Given the description of an element on the screen output the (x, y) to click on. 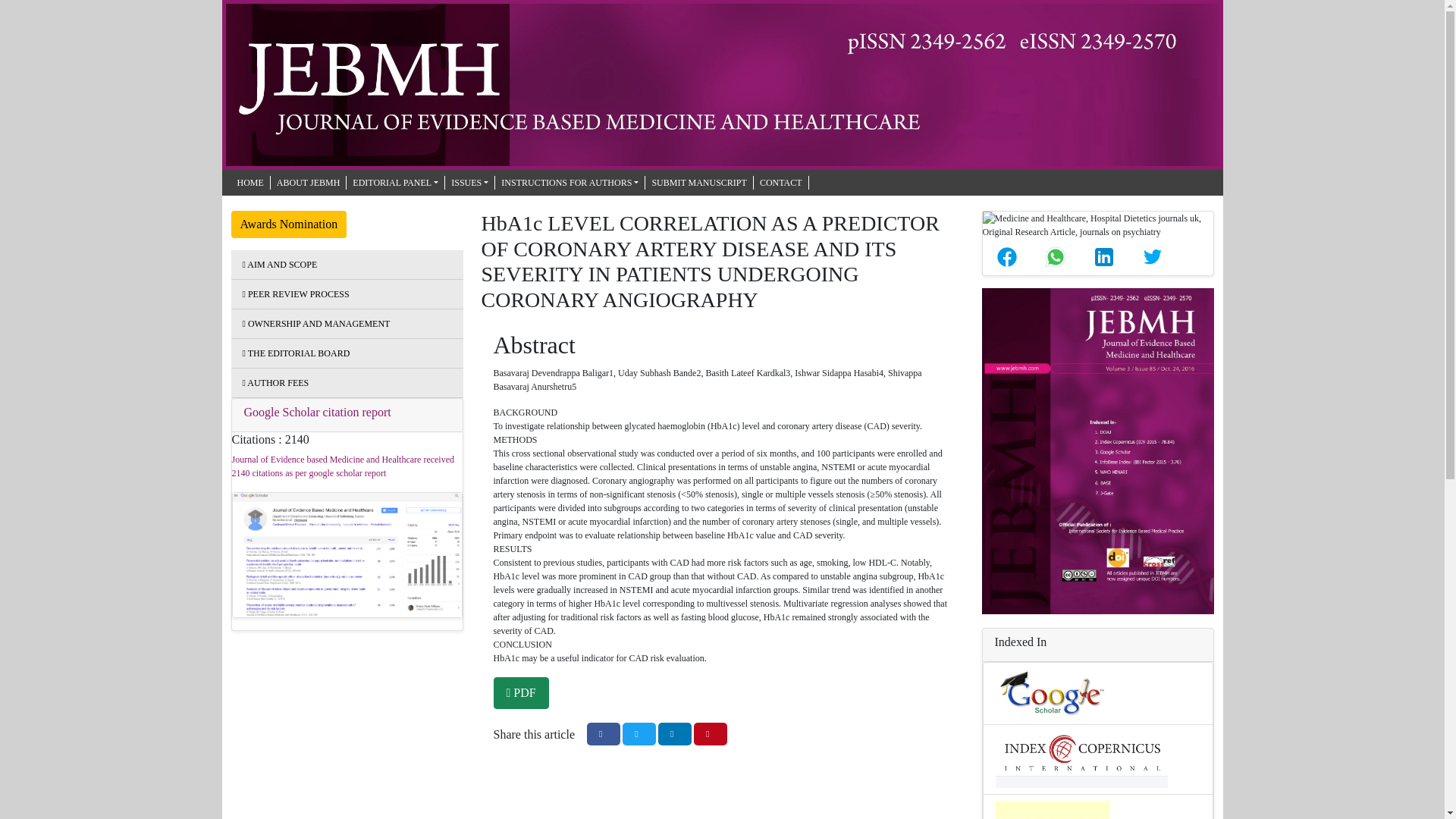
CONTACT (781, 182)
OWNERSHIP AND MANAGEMENT (316, 323)
click here (316, 323)
PEER REVIEW PROCESS (296, 294)
PDF (520, 693)
click here (249, 182)
click here (470, 182)
ABOUT JEBMH (308, 182)
AUTHOR FEES (275, 382)
click here (570, 182)
